Given the description of an element on the screen output the (x, y) to click on. 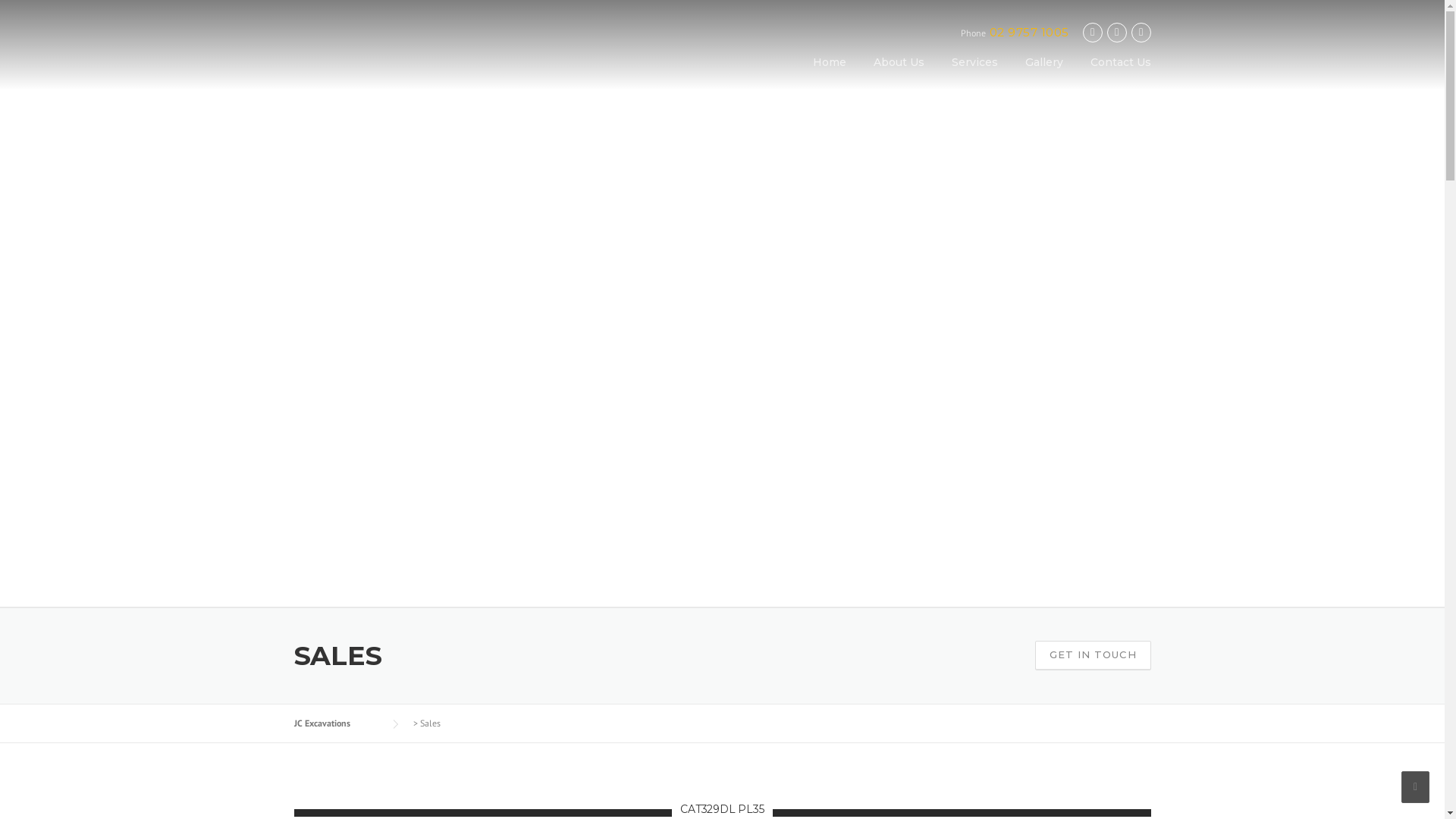
JC Excavations Element type: text (337, 722)
Home Element type: text (829, 73)
Instagram Element type: hover (1116, 31)
Contact Us Element type: text (1113, 73)
Youtube Element type: hover (1141, 31)
Services Element type: text (973, 73)
GET IN TOUCH Element type: text (1092, 655)
Gallery Element type: text (1043, 73)
About Us Element type: text (898, 73)
02 9757 1005 Element type: text (1029, 32)
Facebook Element type: hover (1092, 31)
